Given the description of an element on the screen output the (x, y) to click on. 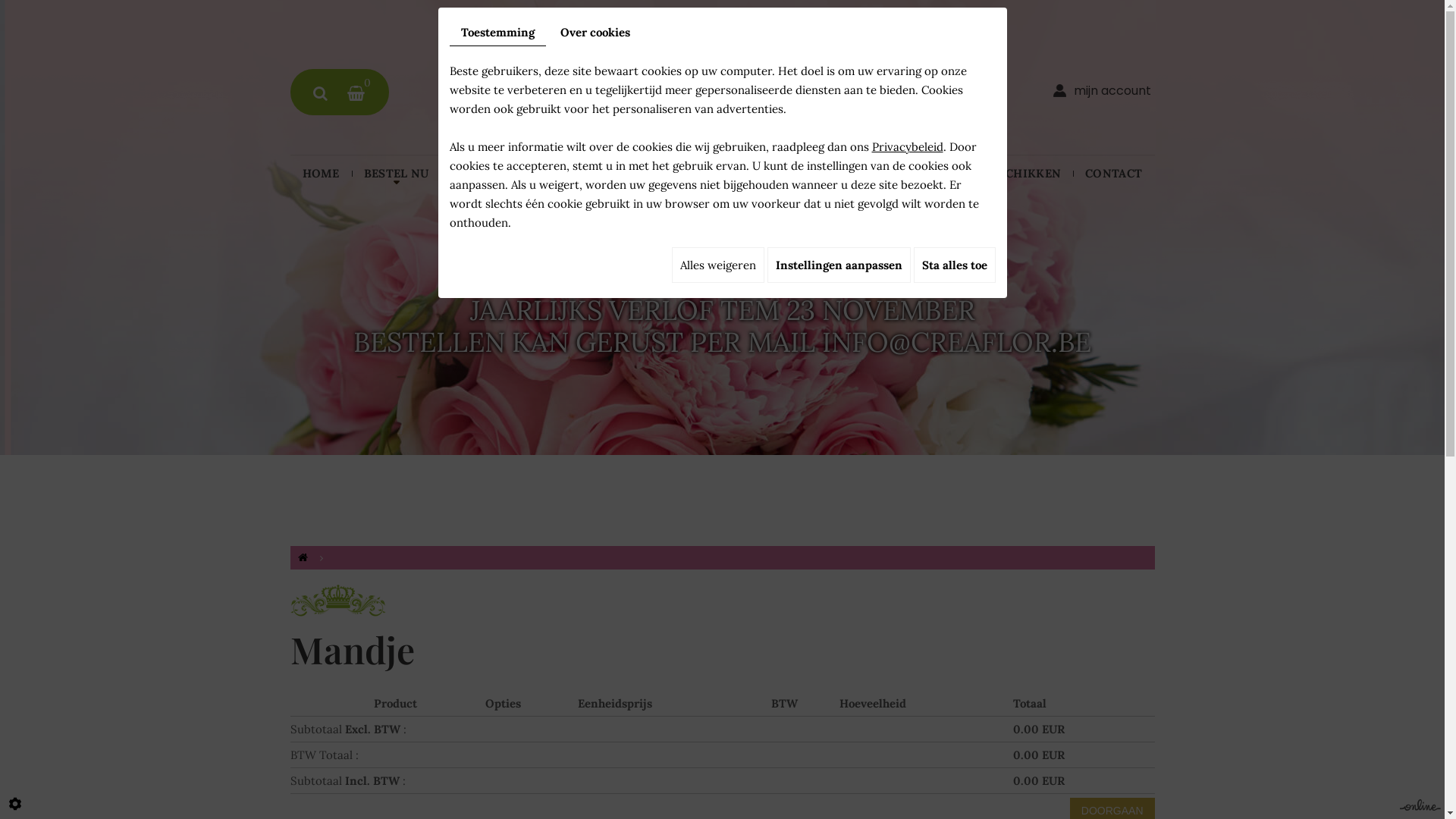
BESTEL NU Element type: text (396, 173)
Instellingen aanpassen Element type: text (838, 264)
Over cookies Element type: text (595, 31)
BLOEMSCHIKKEN Element type: text (1008, 173)
Toestemming Element type: text (496, 32)
HOME Element type: text (320, 173)
Creaflor - Florist Element type: hover (722, 88)
Privacybeleid Element type: text (907, 146)
mijn account Element type: text (1103, 90)
BOEKETTEN Element type: text (488, 173)
BLOEMSTUKKEN Element type: text (702, 173)
Alles weigeren Element type: text (717, 264)
ROUWWERK Element type: text (813, 173)
BRUIDSWERK Element type: text (588, 173)
Sta alles toe Element type: text (953, 264)
VERHUUR Element type: text (902, 173)
Cookie-instelling bewerken Element type: text (14, 803)
CONTACT Element type: text (1113, 173)
BESTEL ONLINE Element type: text (722, 266)
